Given the description of an element on the screen output the (x, y) to click on. 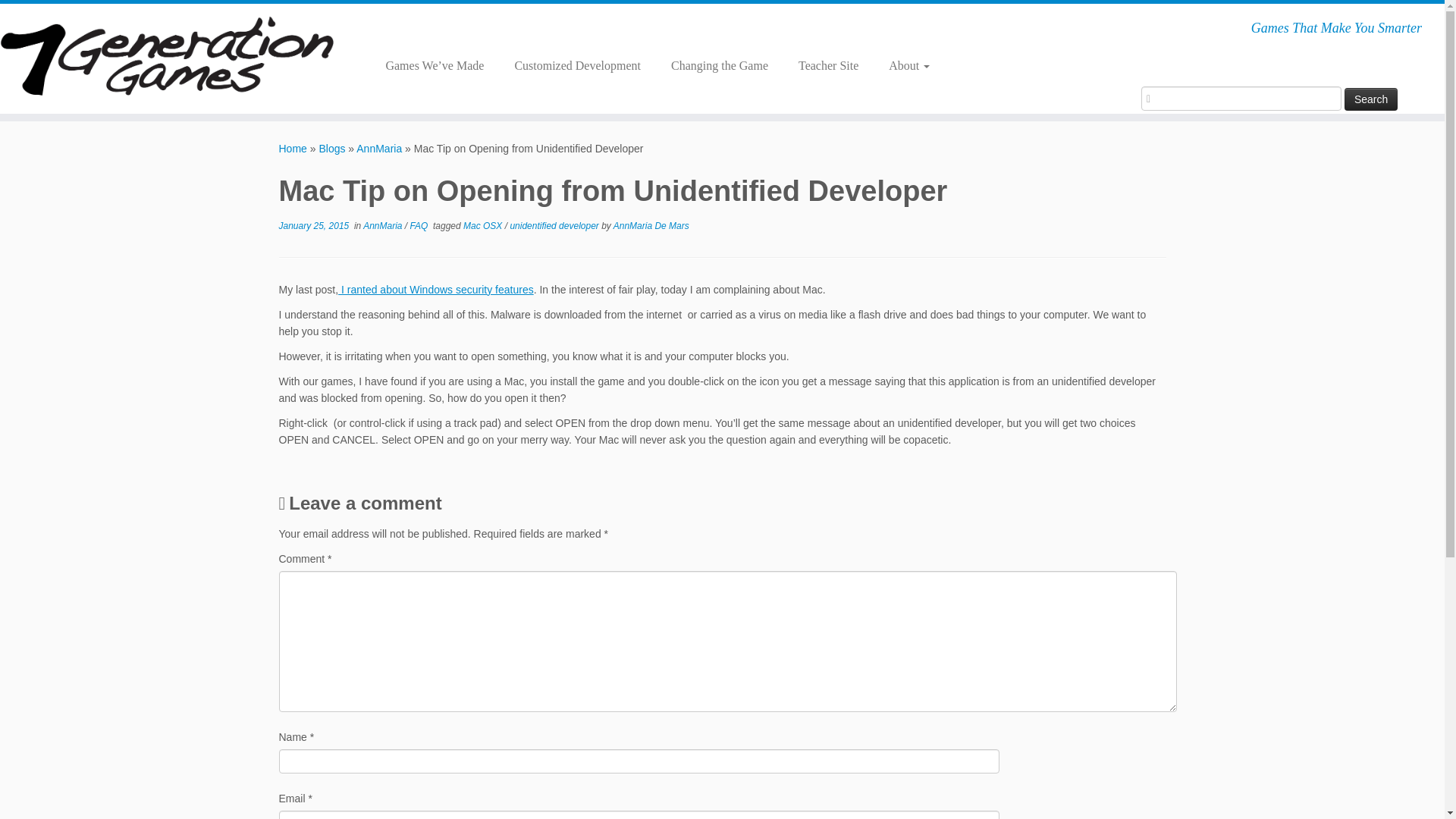
Changing the Game (719, 65)
About (901, 65)
View all posts by AnnMaria De Mars (650, 225)
View all posts in unidentified developer (555, 225)
AnnMaria (378, 148)
AnnMaria (383, 225)
January 25, 2015 (314, 225)
FAQ (420, 225)
Blogs (331, 148)
Home (293, 148)
